Given the description of an element on the screen output the (x, y) to click on. 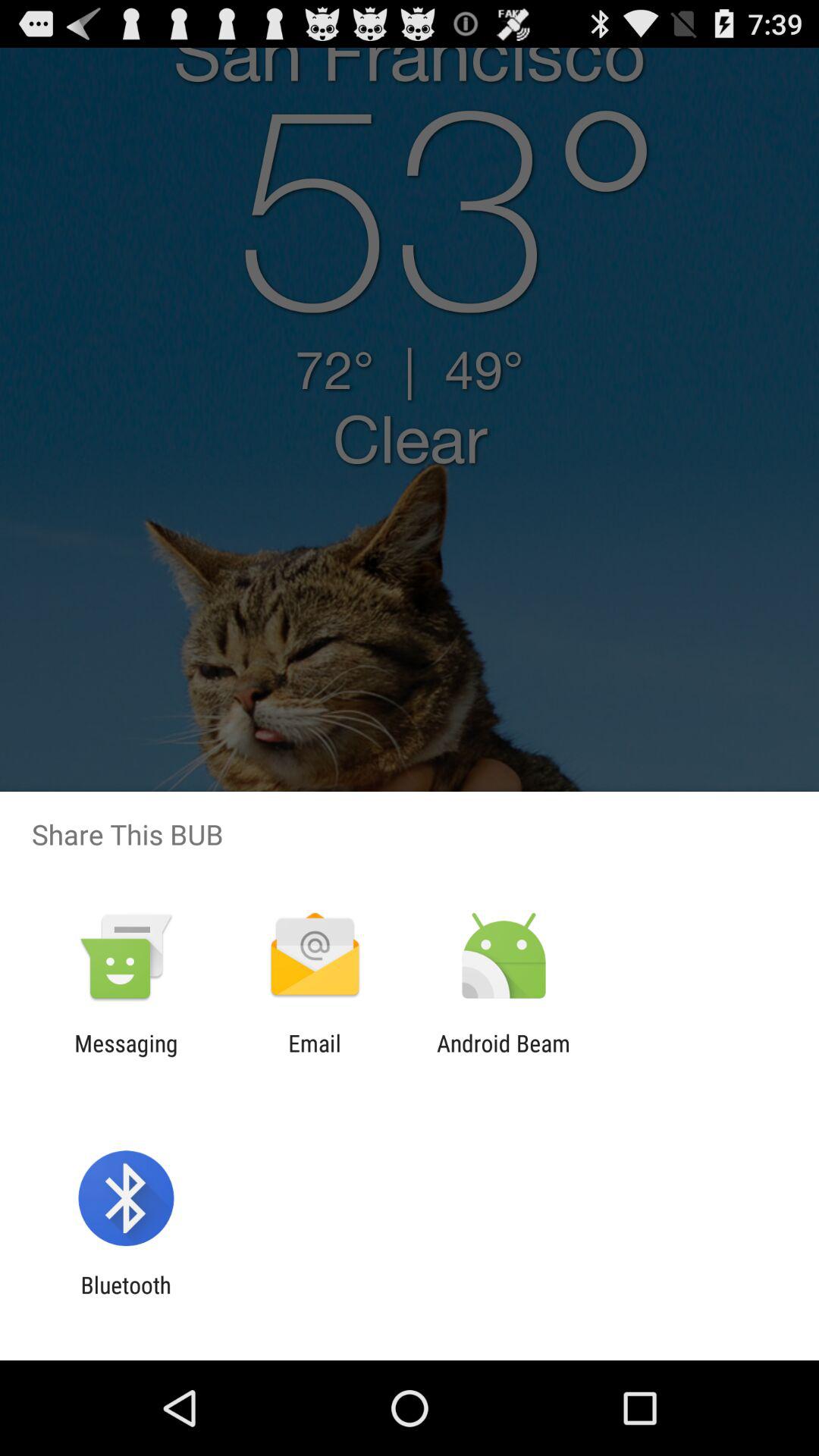
turn on app to the right of the messaging app (314, 1056)
